Given the description of an element on the screen output the (x, y) to click on. 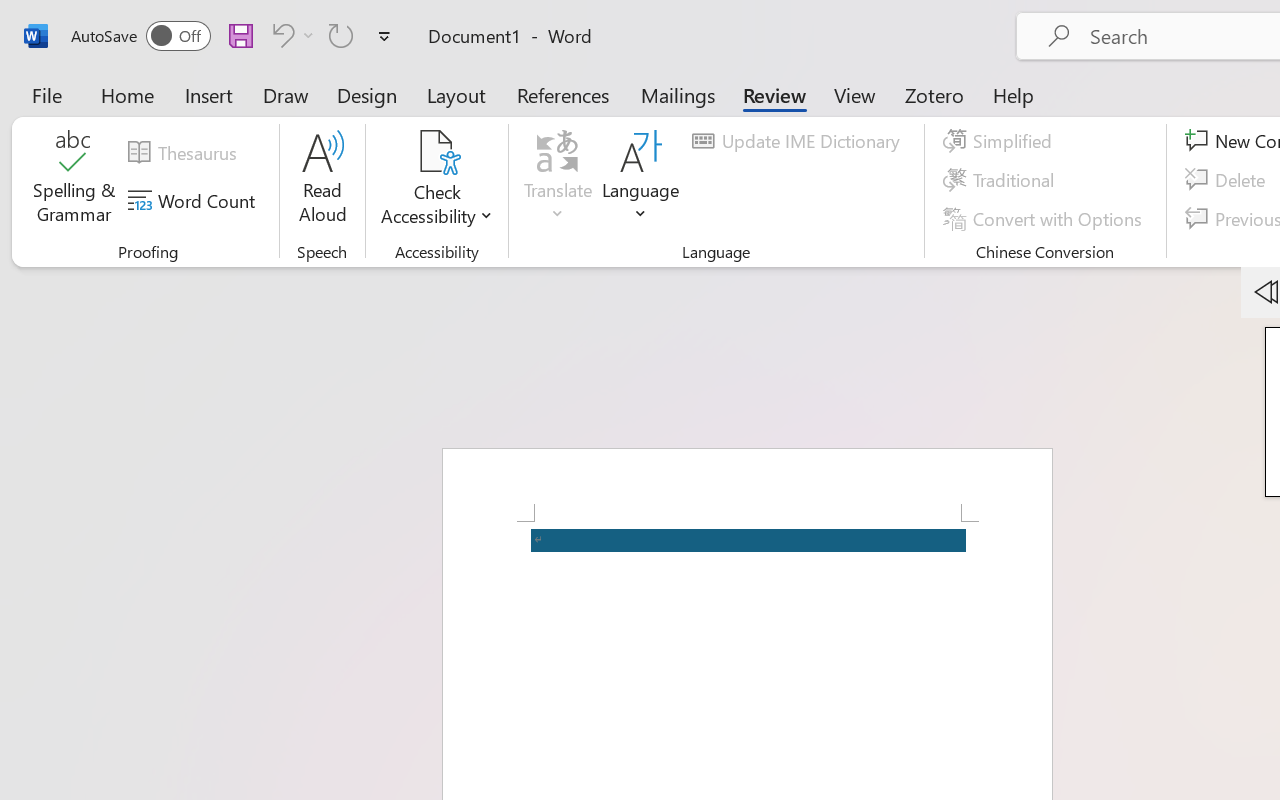
Simplified (1000, 141)
Repeat Accessibility Checker (341, 35)
Undo Apply Quick Style Set (280, 35)
